Given the description of an element on the screen output the (x, y) to click on. 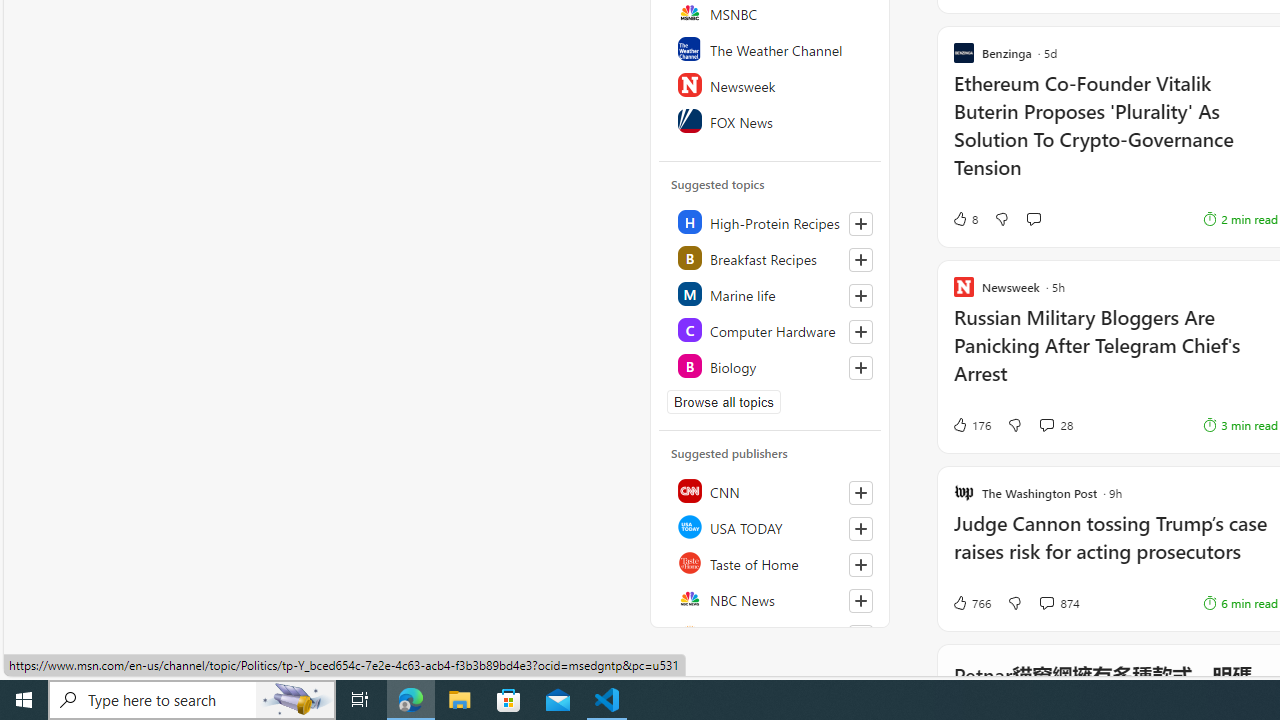
Follow this source (860, 636)
8 Like (964, 219)
176 Like (970, 425)
Class: highlight (771, 365)
View comments 28 Comment (1055, 425)
NBC News (771, 598)
Newsweek (771, 84)
Reuters (771, 634)
USA TODAY (771, 526)
Browse all topics (724, 401)
